Given the description of an element on the screen output the (x, y) to click on. 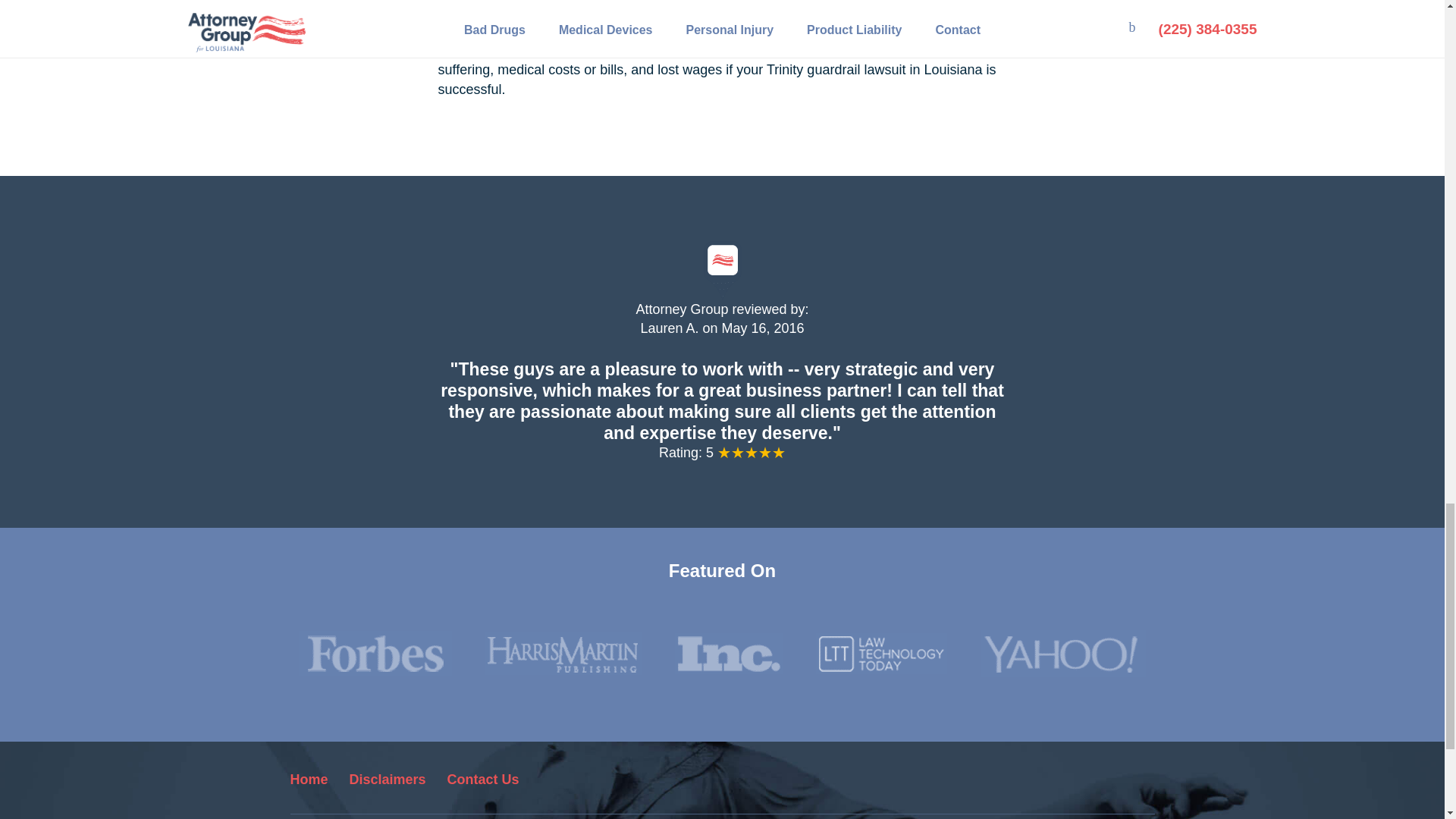
Home (308, 779)
